Given the description of an element on the screen output the (x, y) to click on. 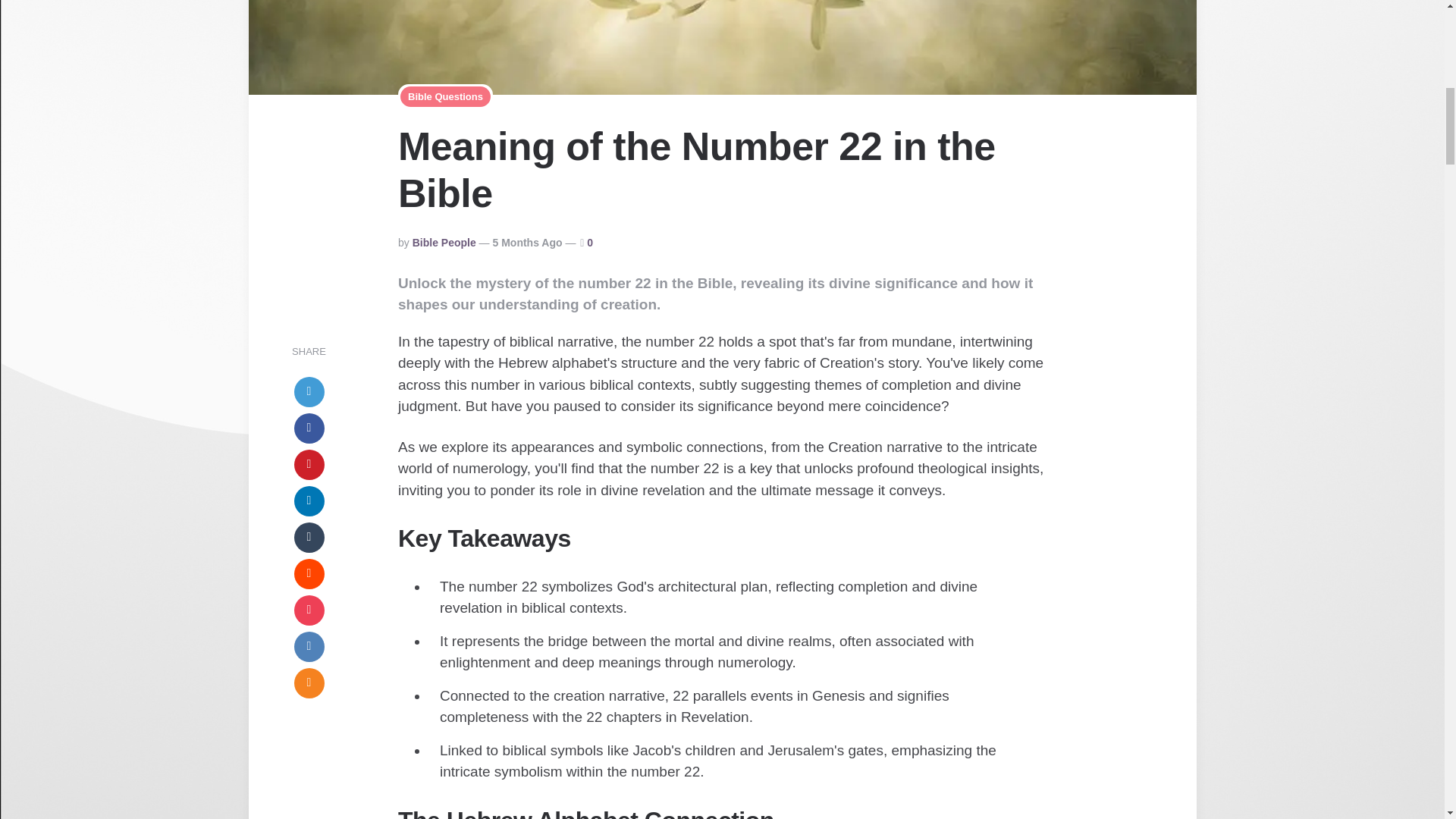
Bible Questions (445, 96)
Bible People (444, 242)
0 (589, 242)
